Given the description of an element on the screen output the (x, y) to click on. 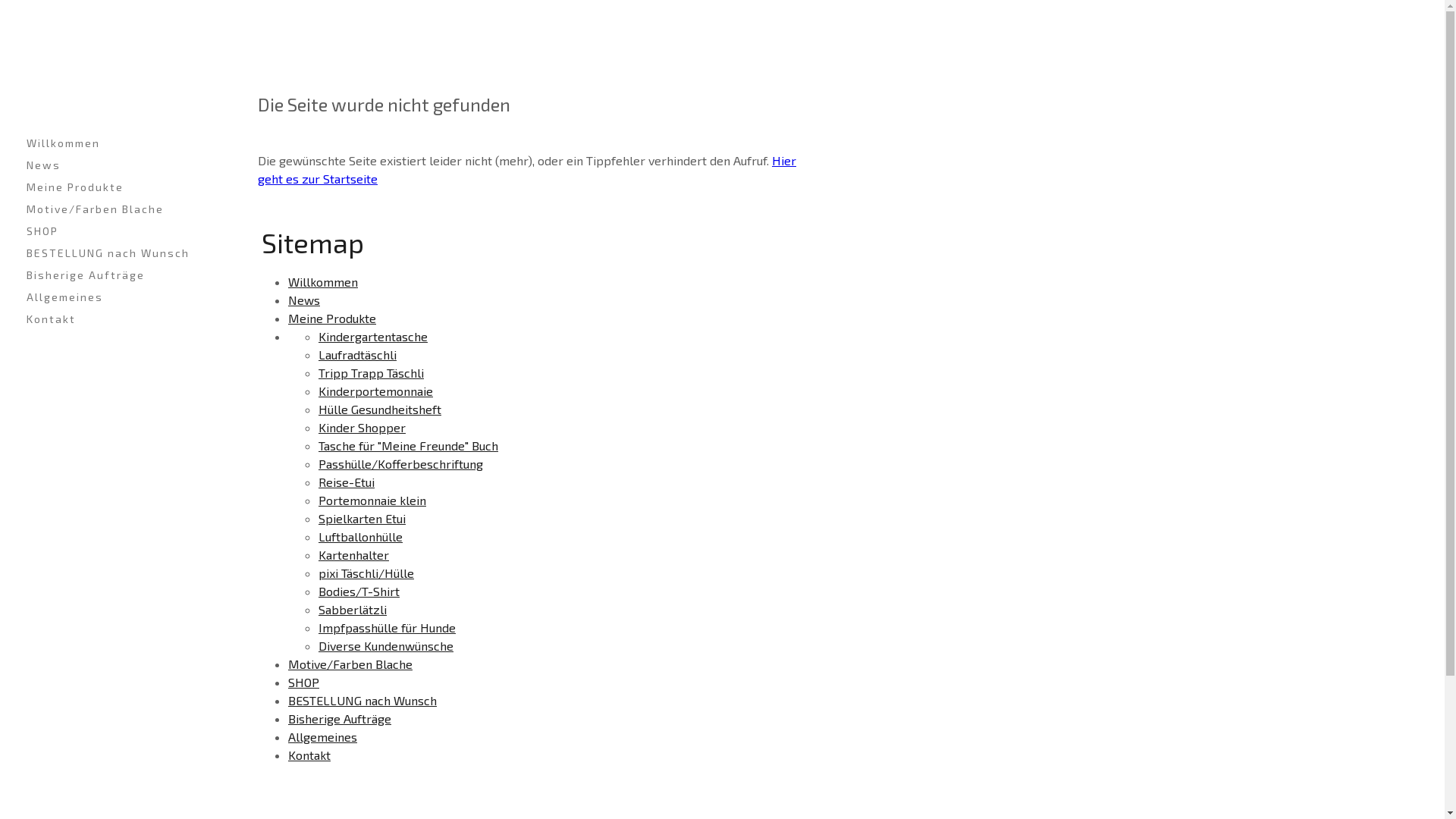
BESTELLUNG nach Wunsch Element type: text (113, 252)
Spielkarten Etui Element type: text (361, 518)
Allgemeines Element type: text (113, 296)
Bodies/T-Shirt Element type: text (358, 590)
Kontakt Element type: text (309, 754)
Willkommen Element type: text (322, 281)
BESTELLUNG nach Wunsch Element type: text (362, 700)
Reise-Etui Element type: text (346, 481)
News Element type: text (304, 299)
Portemonnaie klein Element type: text (372, 499)
Willkommen Element type: text (113, 142)
Motive/Farben Blache Element type: text (350, 663)
Kinderportemonnaie Element type: text (375, 390)
SHOP Element type: text (303, 681)
Allgemeines Element type: text (322, 736)
Meine Produkte Element type: text (332, 317)
Meine Produkte Element type: text (113, 186)
Hier geht es zur Startseite Element type: text (526, 169)
SHOP Element type: text (113, 230)
Kinder Shopper Element type: text (361, 427)
Kindergartentasche Element type: text (372, 336)
Kontakt Element type: text (113, 318)
Motive/Farben Blache Element type: text (113, 208)
Kartenhalter Element type: text (353, 554)
News Element type: text (113, 164)
